Given the description of an element on the screen output the (x, y) to click on. 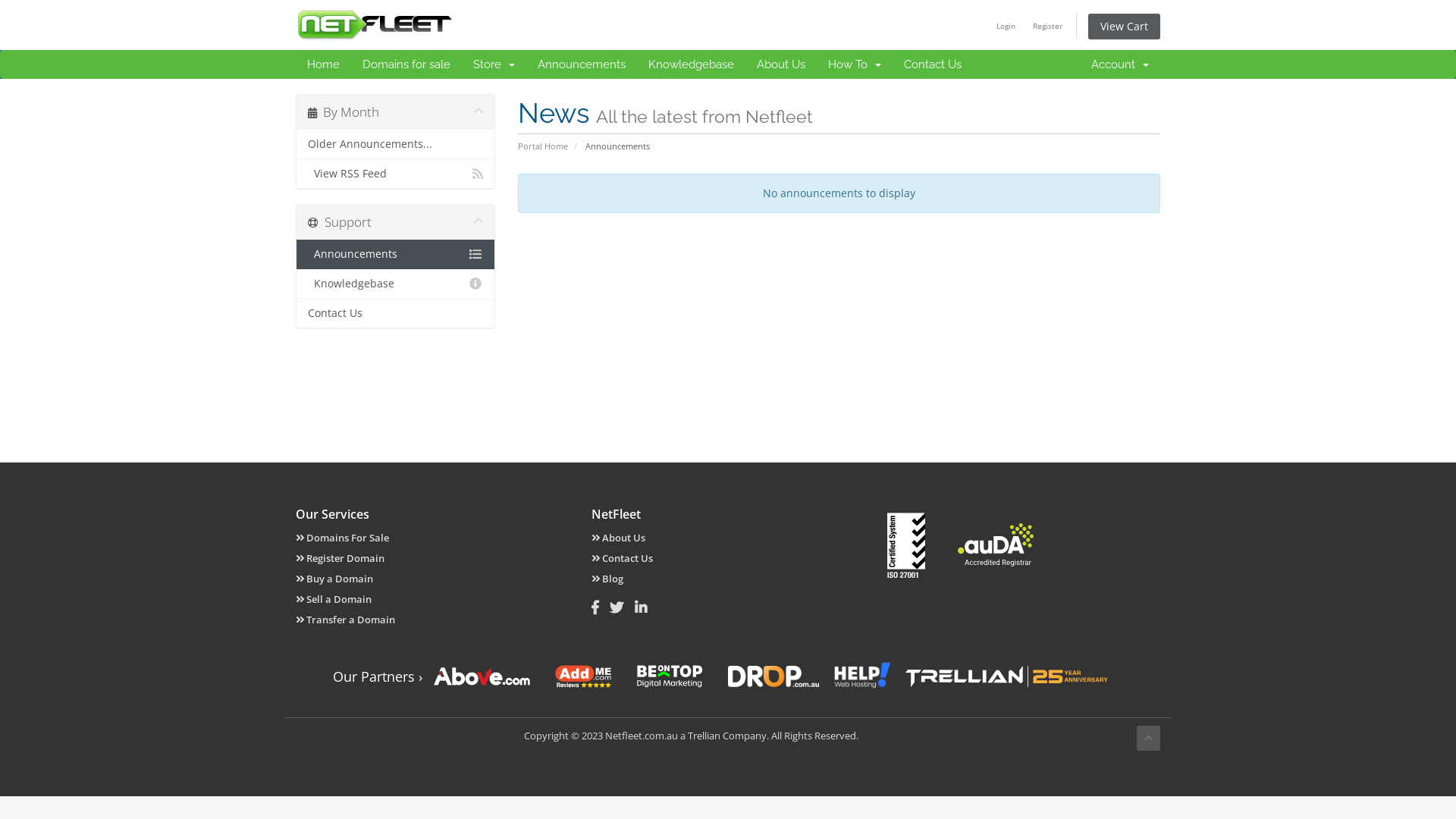
Domains for sale Element type: text (406, 64)
Knowledgebase Element type: text (691, 64)
View Cart Element type: text (1124, 26)
Trellian.com - Premium Traffic Element type: hover (979, 676)
Store   Element type: text (493, 64)
About Us Element type: text (780, 64)
Above.com - Domain Portfolio Manager Element type: hover (481, 676)
Transfer a Domain Element type: text (345, 619)
Addme.com - Reputation Management Element type: hover (582, 676)
Contact Us Element type: text (395, 312)
Register Element type: text (1047, 25)
Account   Element type: text (1119, 64)
Login Element type: text (1005, 25)
  Announcements Element type: text (395, 254)
BeOnTop.com - Digital Marketing Agency Element type: hover (669, 676)
Contact Us Element type: text (932, 64)
ISO 27001 Certified Element type: hover (906, 545)
Announcements Element type: text (581, 64)
Older Announcements... Element type: text (395, 144)
Domains For Sale Element type: text (342, 537)
auDa Accredited Registrar Element type: hover (995, 544)
Help.com.au - AU Website Hosting Element type: hover (861, 676)
Trellian Element type: text (703, 735)
Sell a Domain Element type: text (333, 598)
About Us Element type: text (618, 537)
  View RSS Feed Element type: text (395, 173)
Buy a Domain Element type: text (334, 578)
How To   Element type: text (854, 64)
Home Element type: text (323, 64)
Register Domain Element type: text (339, 557)
Portal Home Element type: text (542, 145)
Contact Us Element type: text (621, 557)
Catch Expiring .au Domains Element type: hover (773, 676)
  Knowledgebase Element type: text (395, 283)
Blog Element type: text (607, 578)
